Given the description of an element on the screen output the (x, y) to click on. 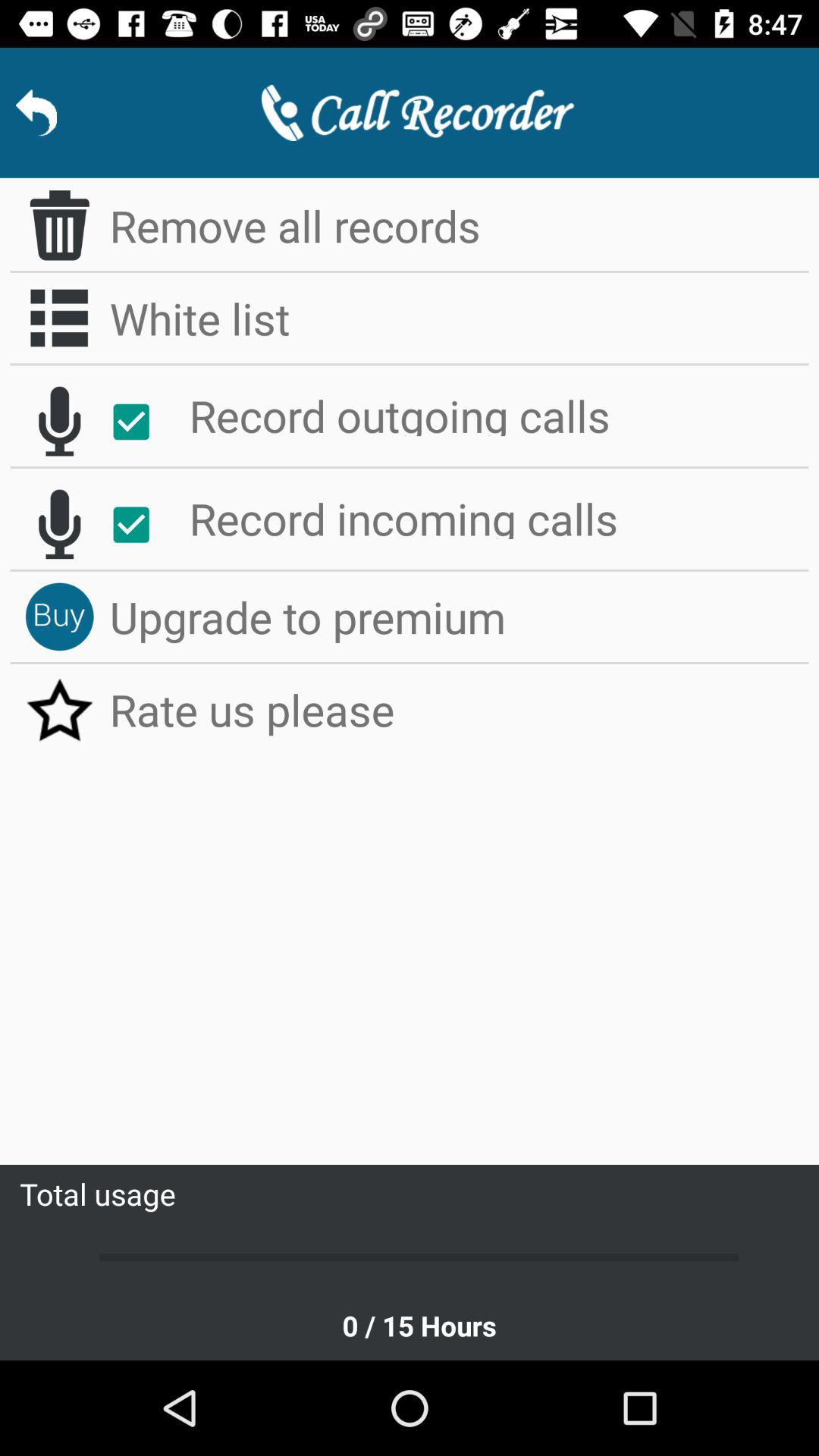
delete all (59, 225)
